Given the description of an element on the screen output the (x, y) to click on. 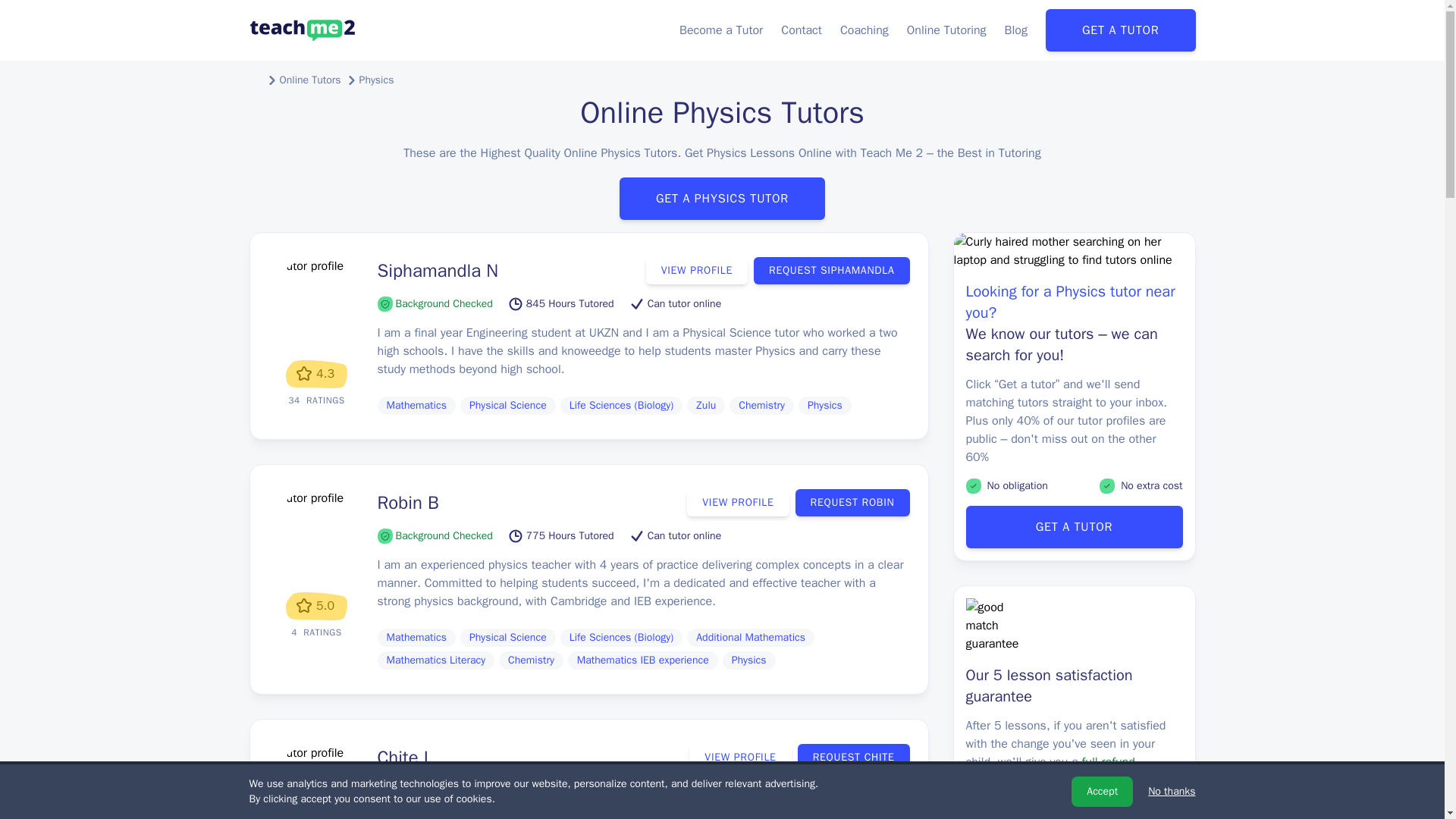
Blog (1015, 29)
Physics (376, 79)
VIEW PROFILE (739, 757)
Online Tutoring (947, 29)
Chite L (404, 757)
Become a Tutor (720, 29)
Online Tutors (309, 79)
REQUEST ROBIN (852, 502)
VIEW PROFILE (697, 270)
VIEW PROFILE (738, 502)
